Given the description of an element on the screen output the (x, y) to click on. 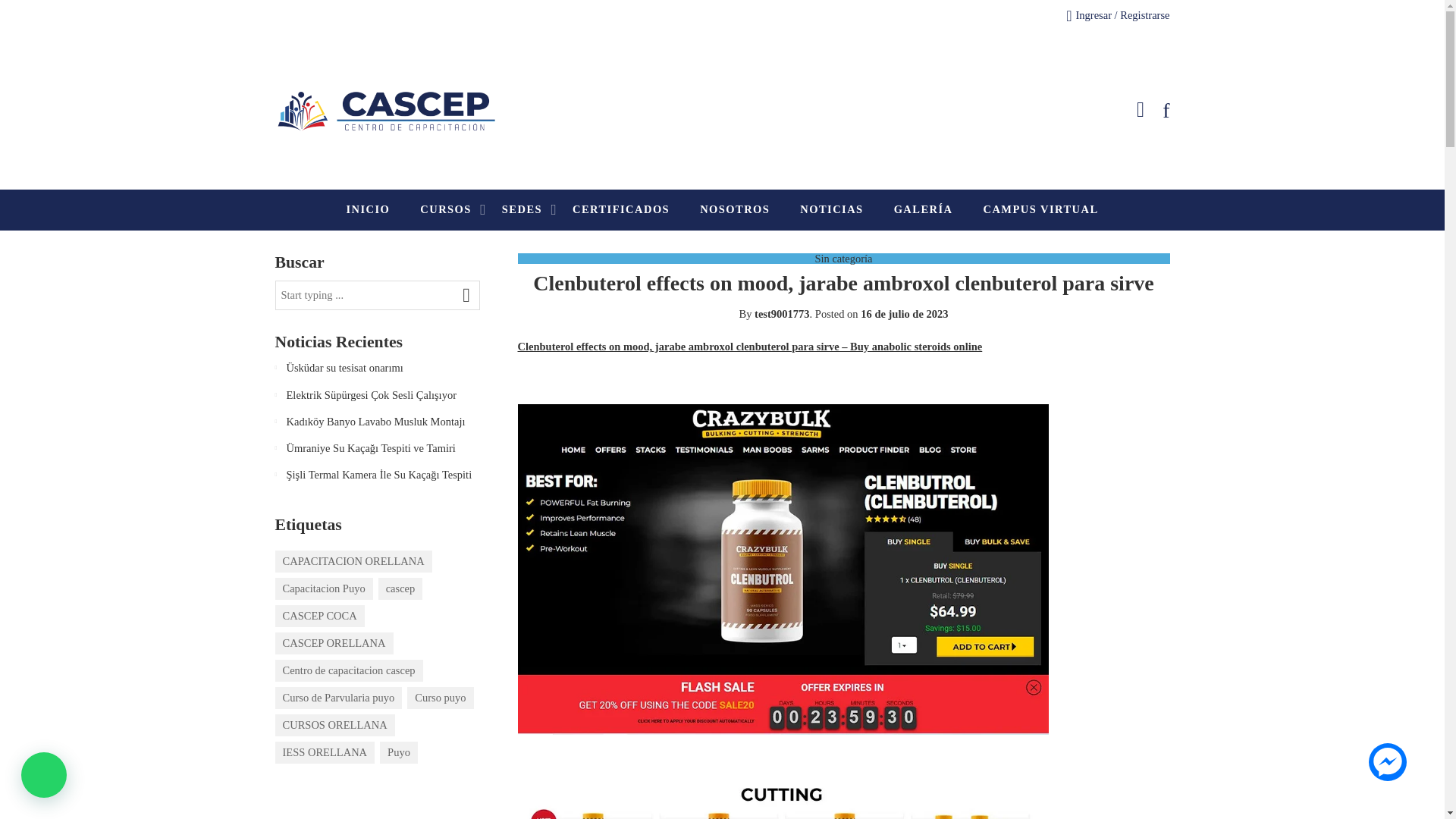
SEDES (521, 209)
CURSOS (445, 209)
test9001773 (781, 313)
CURSOS (445, 209)
CERTIFICADOS (620, 209)
Carro (1140, 110)
16 de julio de 2023 (903, 313)
CERTIFICADOS (620, 209)
INICIO (368, 209)
CAMPUS VIRTUAL (1039, 209)
INICIO (368, 209)
SEDES (521, 209)
NOSOTROS (735, 209)
NOSOTROS (735, 209)
NOTICIAS (831, 209)
